Given the description of an element on the screen output the (x, y) to click on. 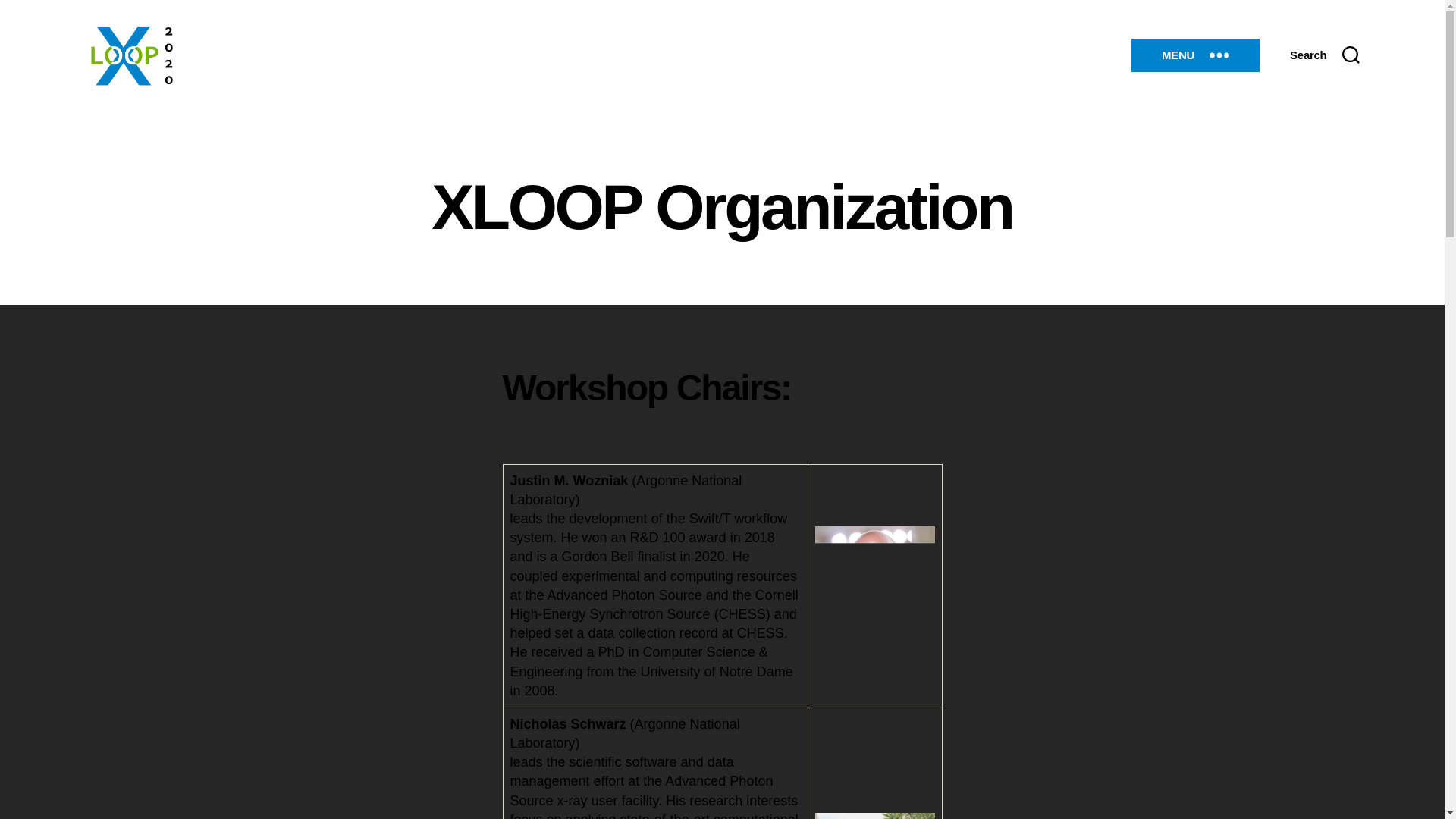
MENU (1195, 55)
Search (1324, 55)
